Given the description of an element on the screen output the (x, y) to click on. 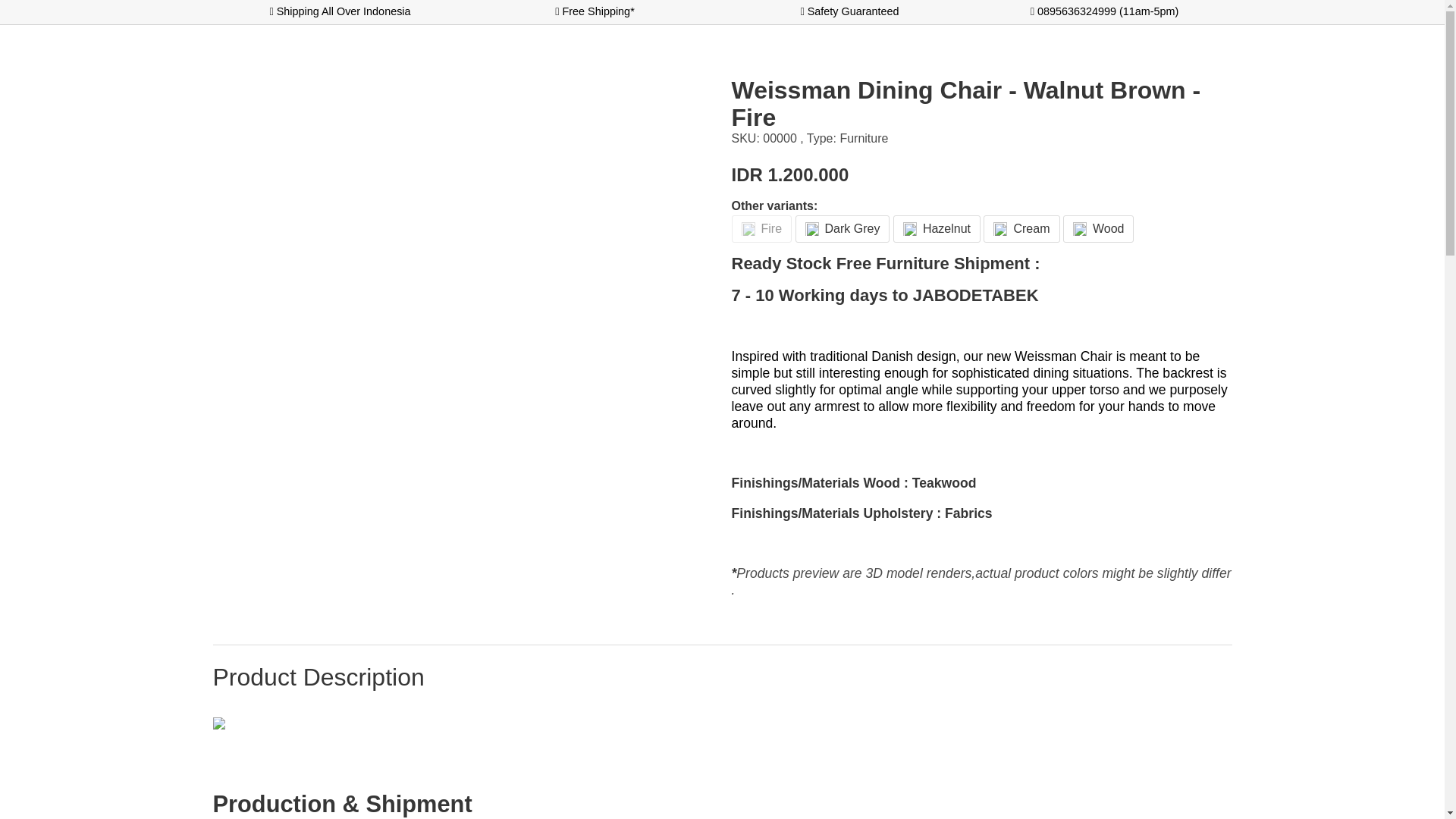
Fire (761, 228)
Shipping All Over Indonesia (339, 10)
Hazelnut (936, 228)
Safety Guaranteed (848, 10)
Wood (1098, 228)
Dark Grey (841, 228)
Cream (1021, 228)
